Given the description of an element on the screen output the (x, y) to click on. 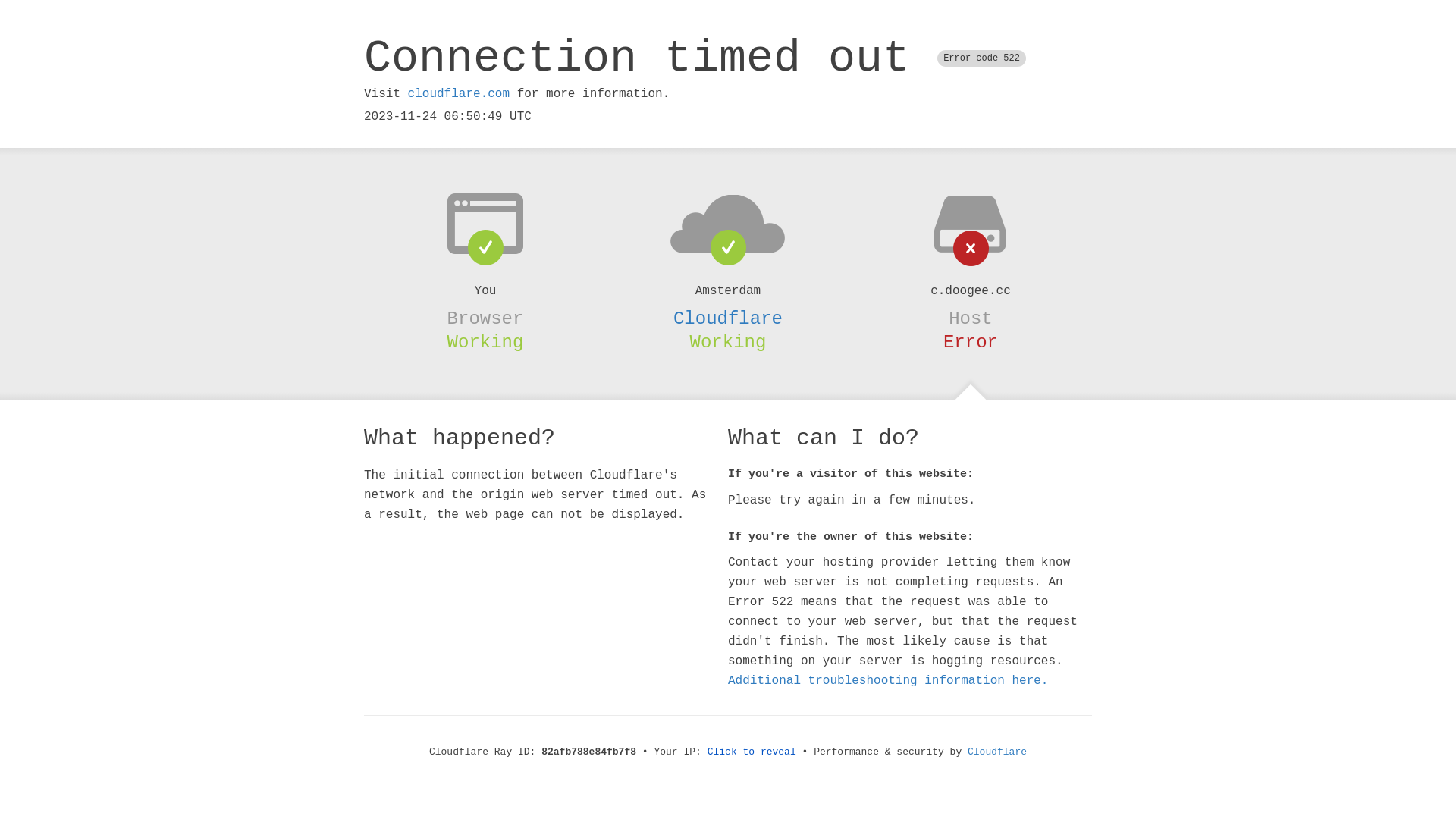
Cloudflare Element type: text (996, 751)
Click to reveal Element type: text (751, 751)
Cloudflare Element type: text (727, 318)
Additional troubleshooting information here. Element type: text (888, 680)
cloudflare.com Element type: text (458, 93)
